Given the description of an element on the screen output the (x, y) to click on. 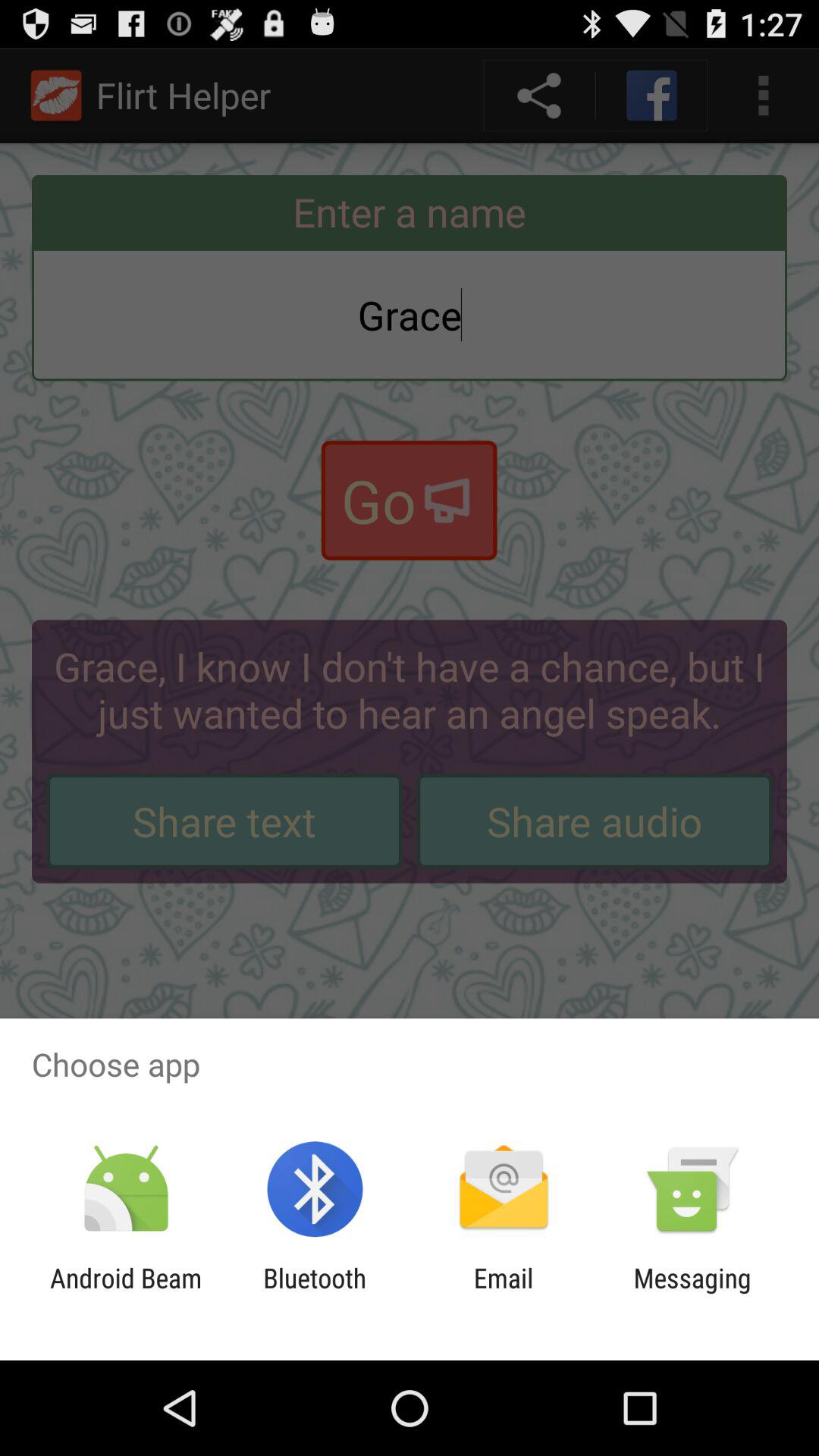
tap app next to the email icon (692, 1293)
